Given the description of an element on the screen output the (x, y) to click on. 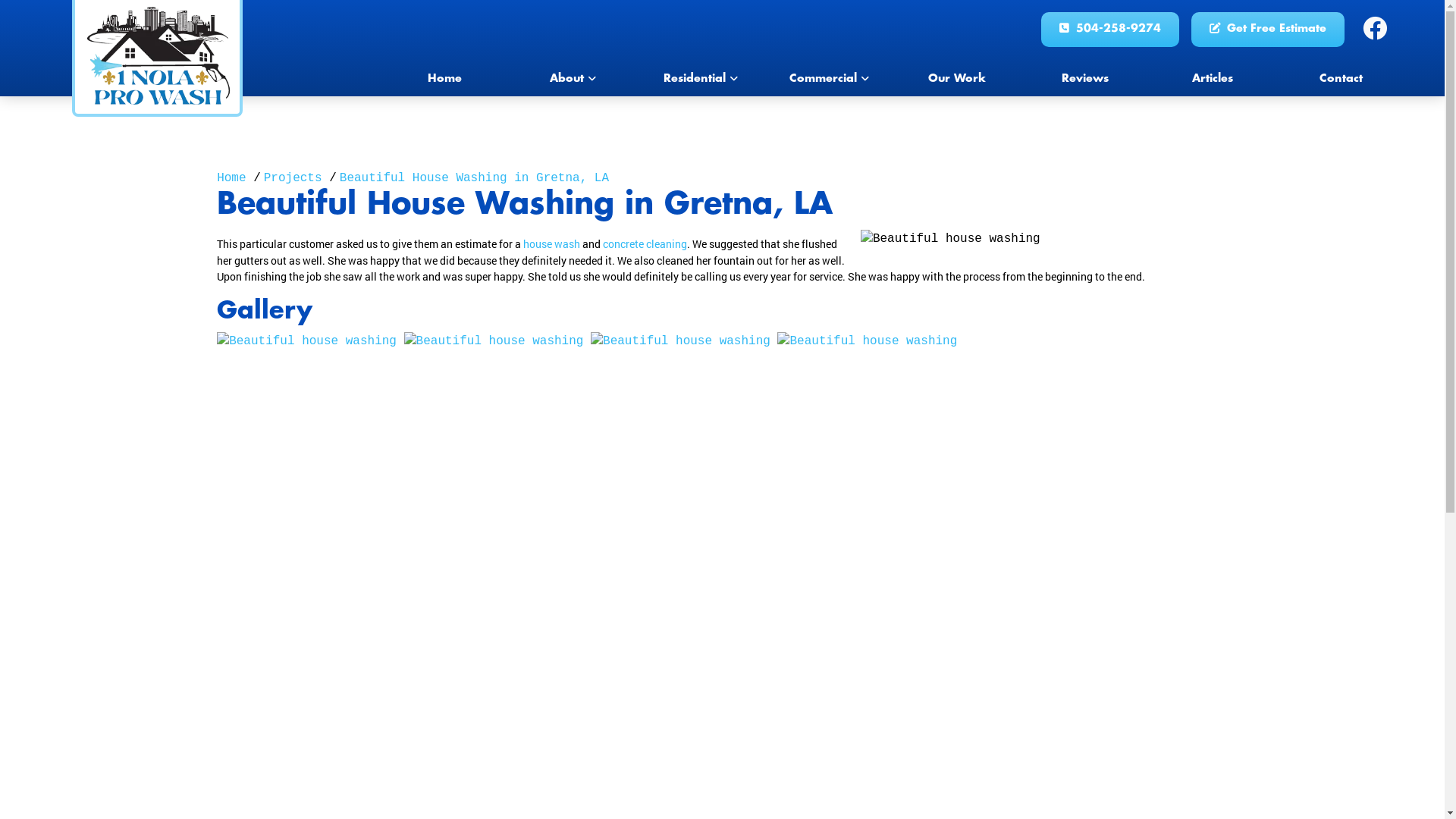
Beautiful House Washing in Gretna, LA Element type: text (473, 178)
Get Free Estimate Element type: text (1266, 29)
Home Element type: text (230, 178)
Contact Element type: text (1341, 79)
Reviews Element type: text (1084, 79)
concrete cleaning Element type: text (644, 243)
Articles Element type: text (1212, 79)
About Element type: text (572, 79)
Residential Element type: text (701, 79)
504-258-9274 Element type: text (1109, 29)
Commercial Element type: text (829, 79)
Projects Element type: text (292, 178)
Home Element type: text (444, 79)
house wash Element type: text (551, 243)
Our Work Element type: text (957, 79)
